Given the description of an element on the screen output the (x, y) to click on. 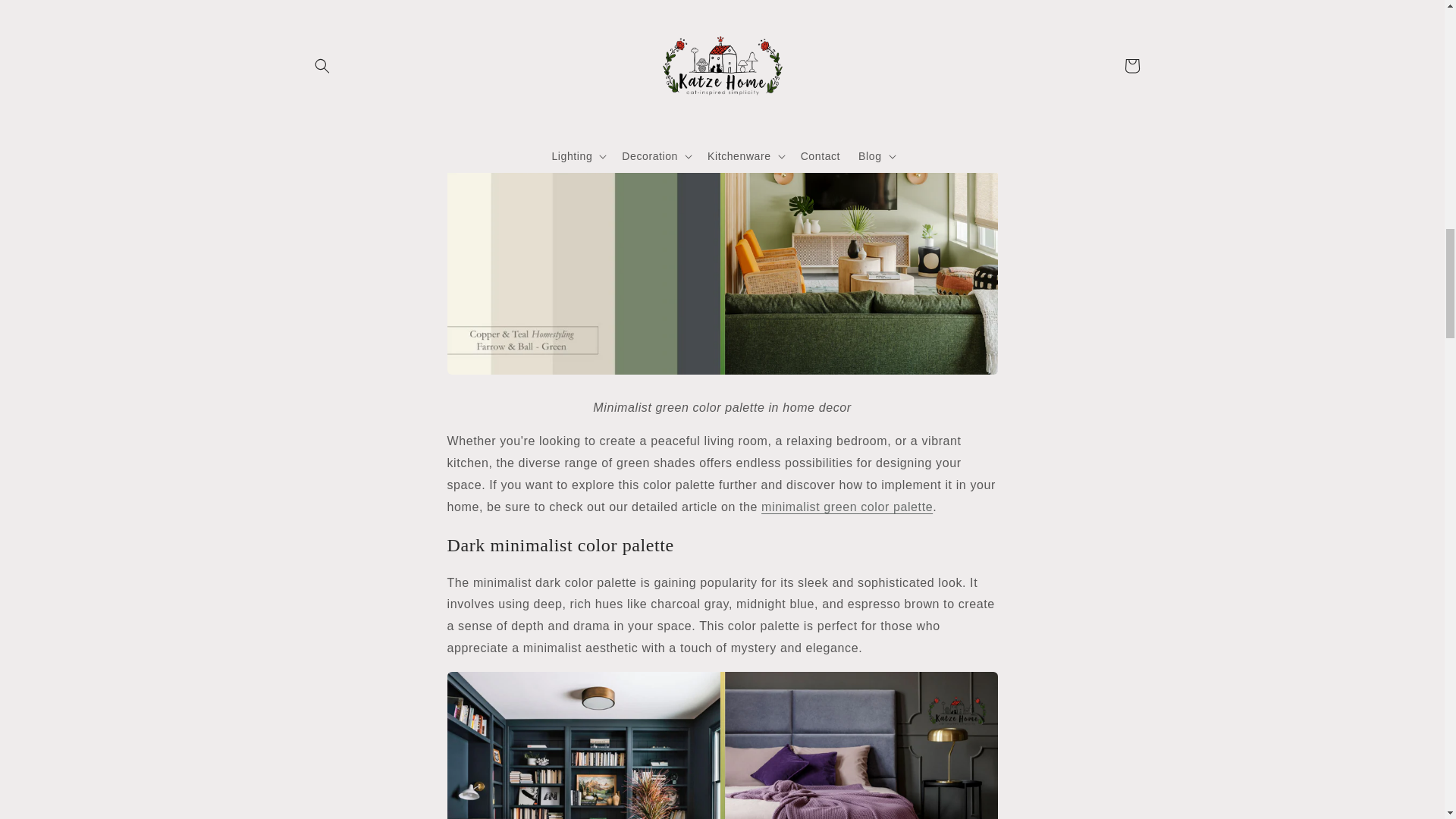
minimalist green color palette (847, 506)
